Given the description of an element on the screen output the (x, y) to click on. 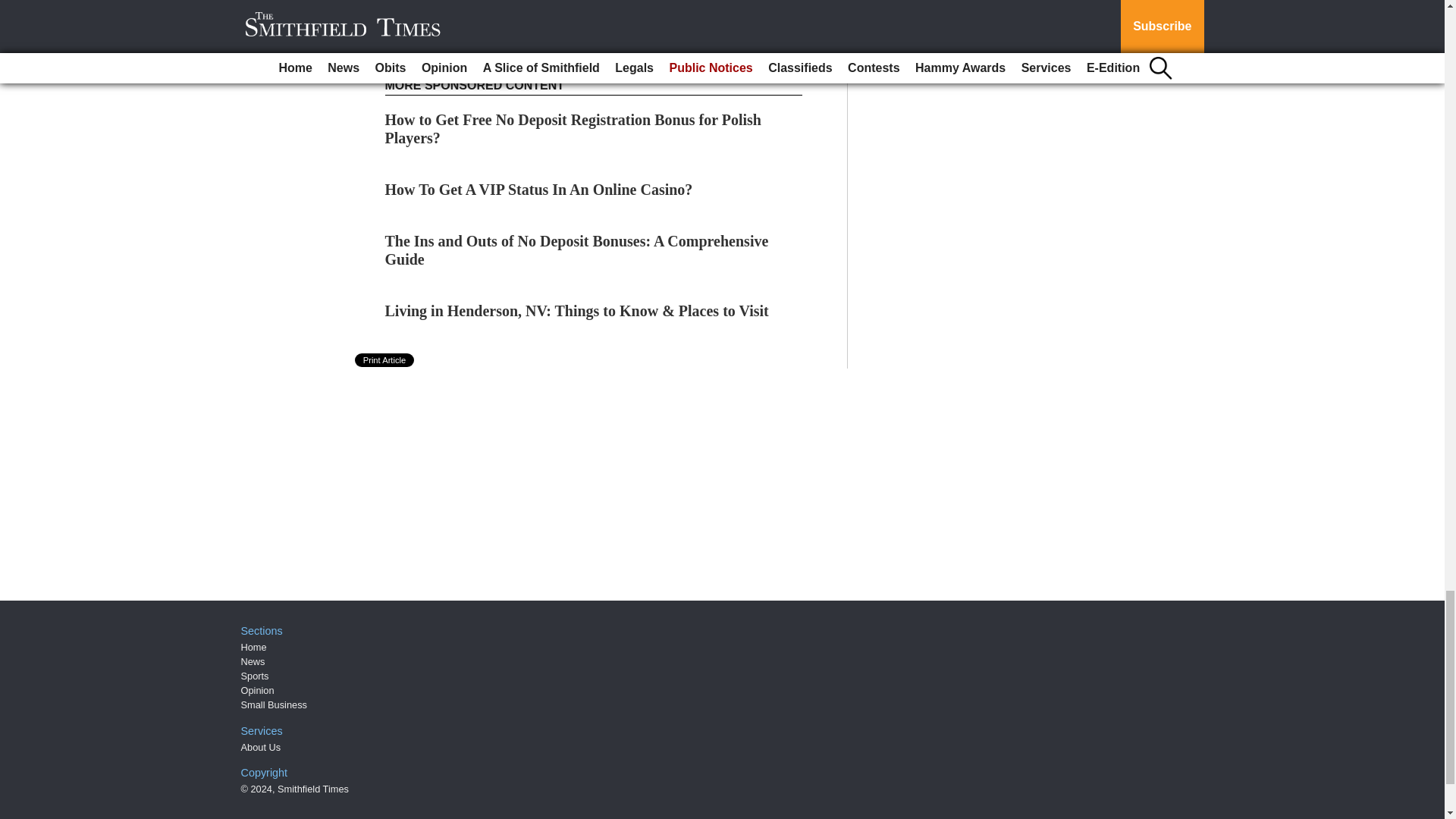
How To Get A VIP Status In An Online Casino? (539, 189)
Home (253, 646)
Print Article (384, 359)
How To Get A VIP Status In An Online Casino? (539, 189)
